Given the description of an element on the screen output the (x, y) to click on. 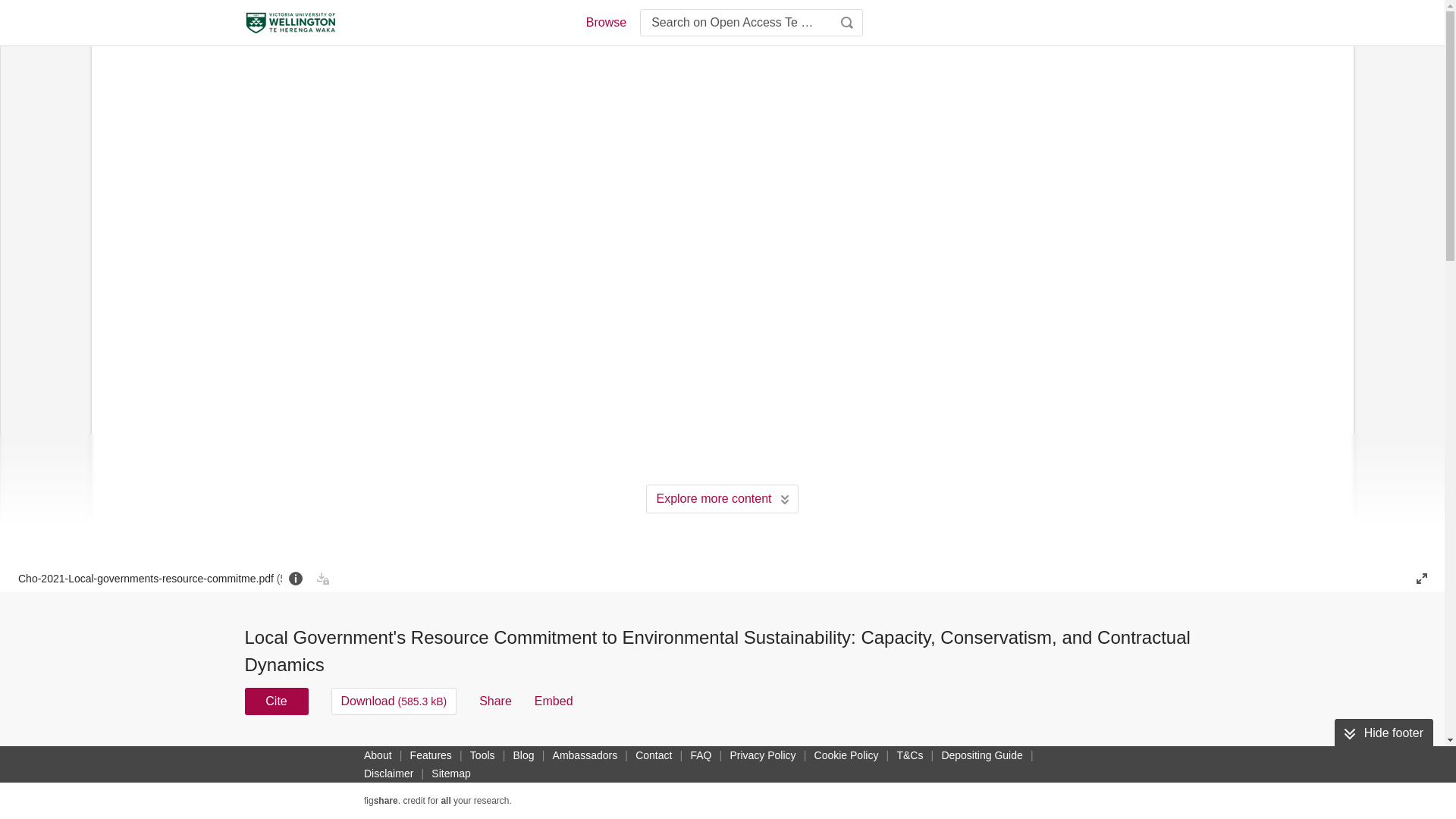
Cite (275, 700)
Browse (605, 22)
Wonhyuk Cho (621, 750)
Cho-2021-Local-governments-resource-commitme.pdf (149, 578)
Embed (553, 700)
USAGE METRICS (976, 755)
Share (495, 700)
Explore more content (721, 498)
